Given the description of an element on the screen output the (x, y) to click on. 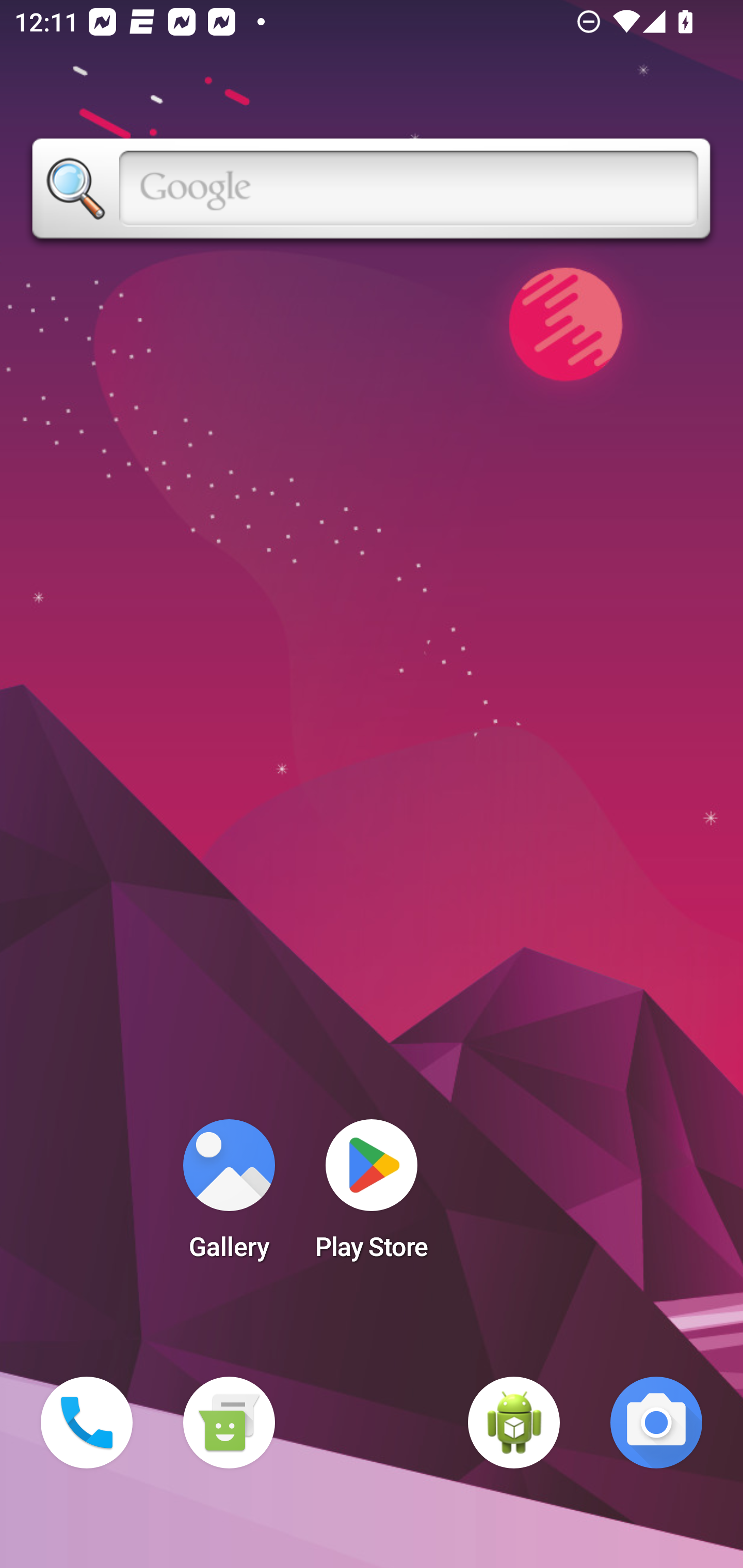
Gallery (228, 1195)
Play Store (371, 1195)
Phone (86, 1422)
Messaging (228, 1422)
WebView Browser Tester (513, 1422)
Camera (656, 1422)
